Given the description of an element on the screen output the (x, y) to click on. 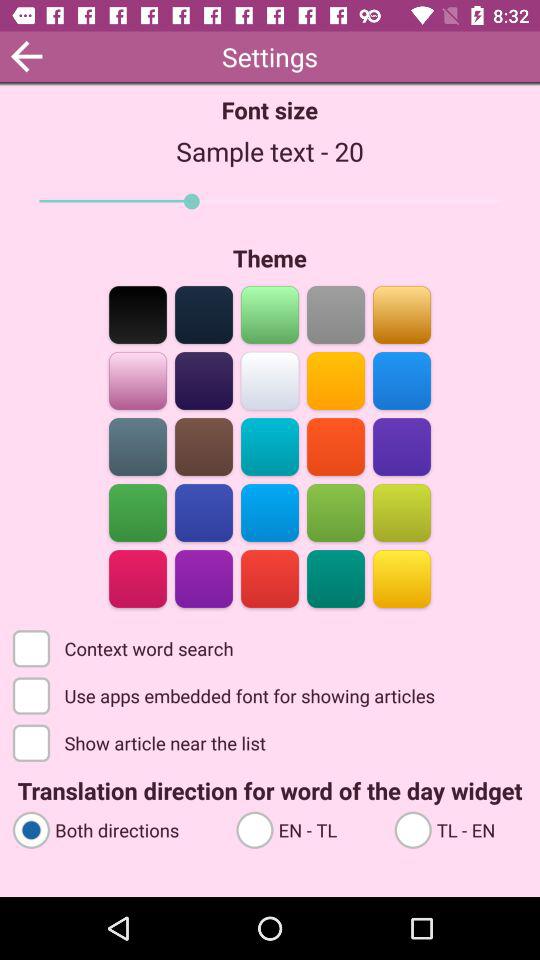
select new theme color (203, 577)
